Given the description of an element on the screen output the (x, y) to click on. 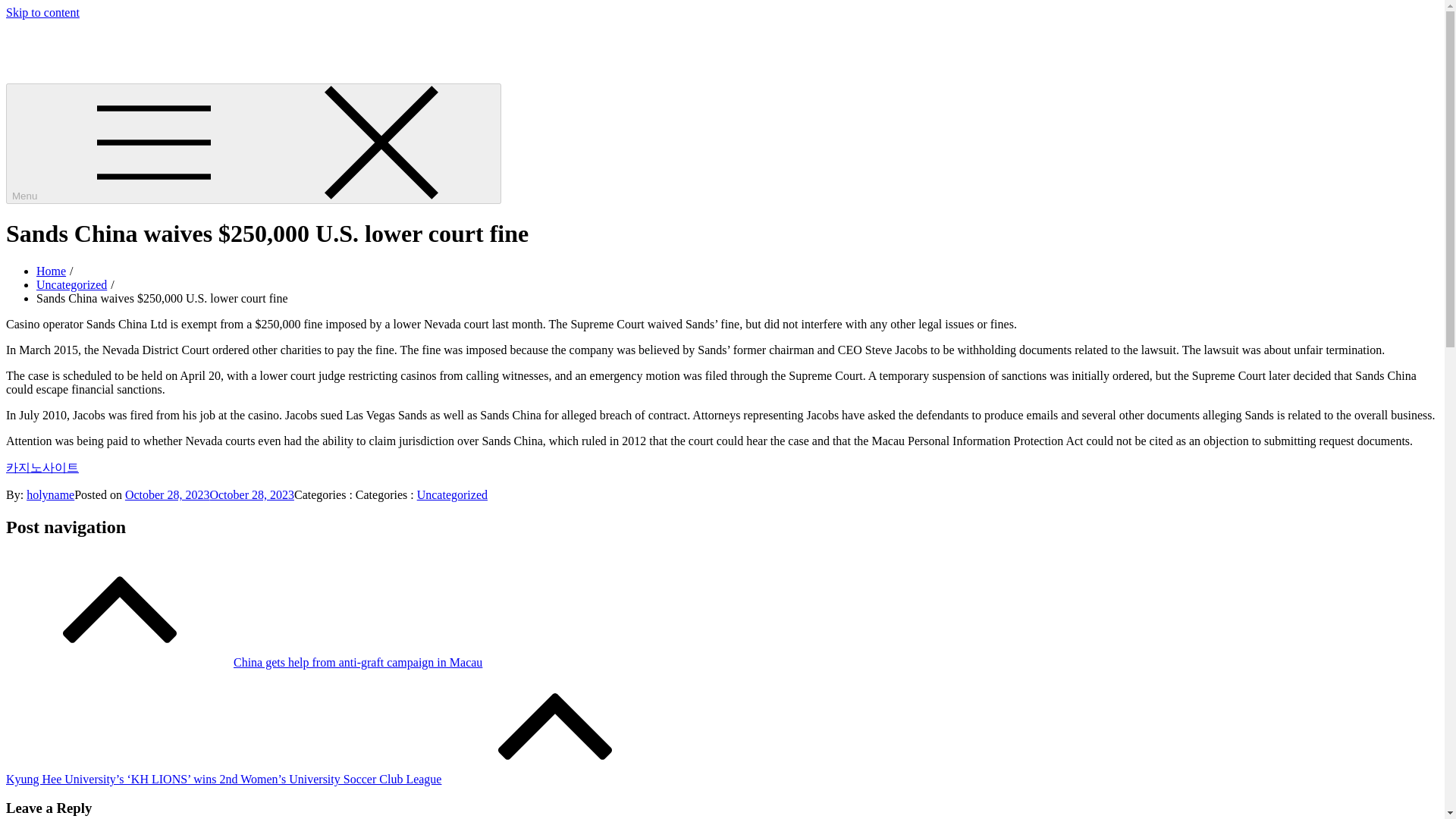
holyname (50, 494)
Skip to content (42, 11)
October 28, 2023October 28, 2023 (209, 494)
Menu (252, 143)
Uncategorized (451, 494)
Home (50, 270)
China gets help from anti-graft campaign in Macau (243, 662)
Primary Menu (252, 143)
Uncategorized (71, 284)
holyname.xyz (39, 38)
